Given the description of an element on the screen output the (x, y) to click on. 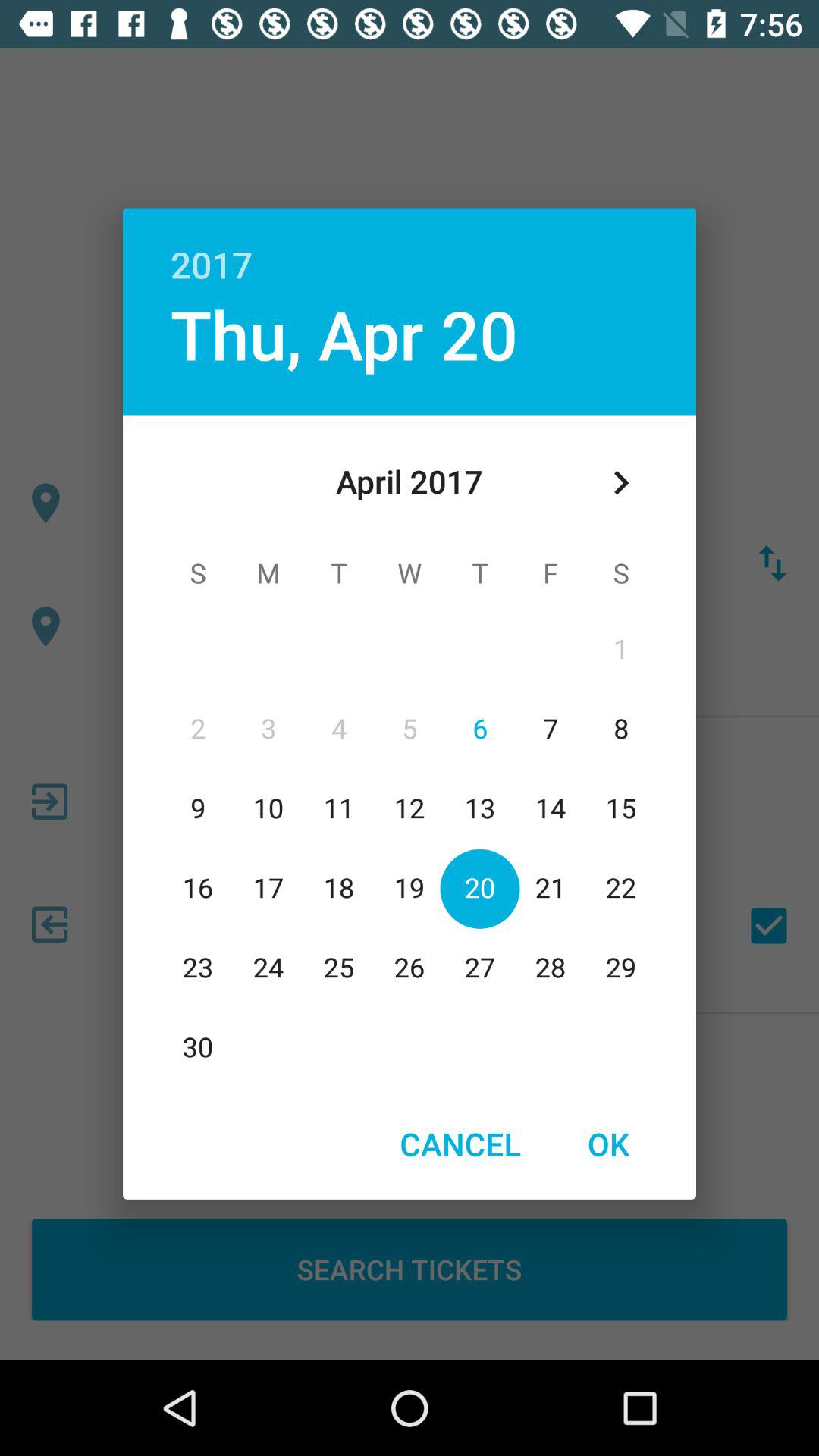
launch the item next to the cancel button (608, 1143)
